Given the description of an element on the screen output the (x, y) to click on. 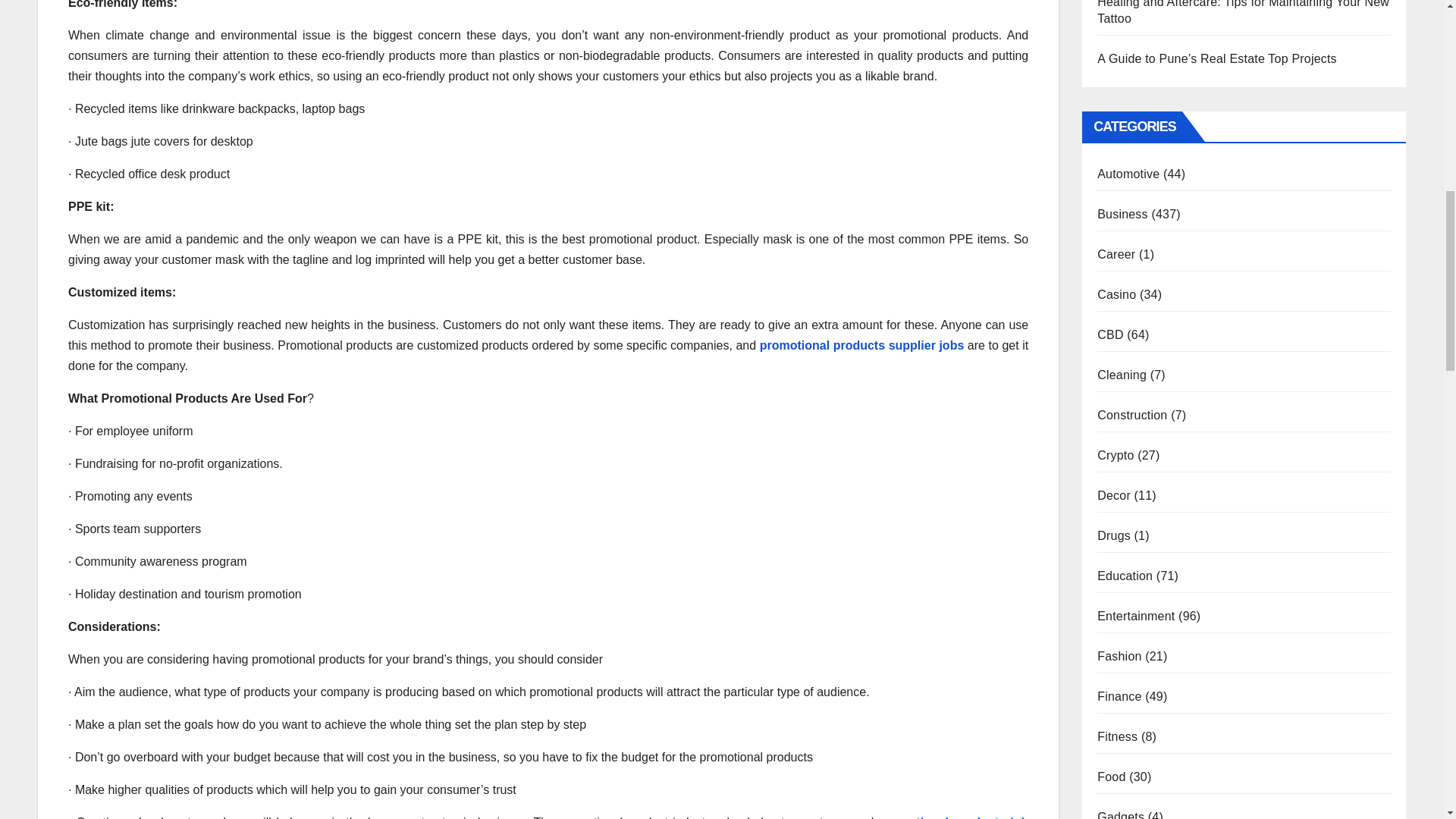
promotional products supplier jobs (861, 345)
